Given the description of an element on the screen output the (x, y) to click on. 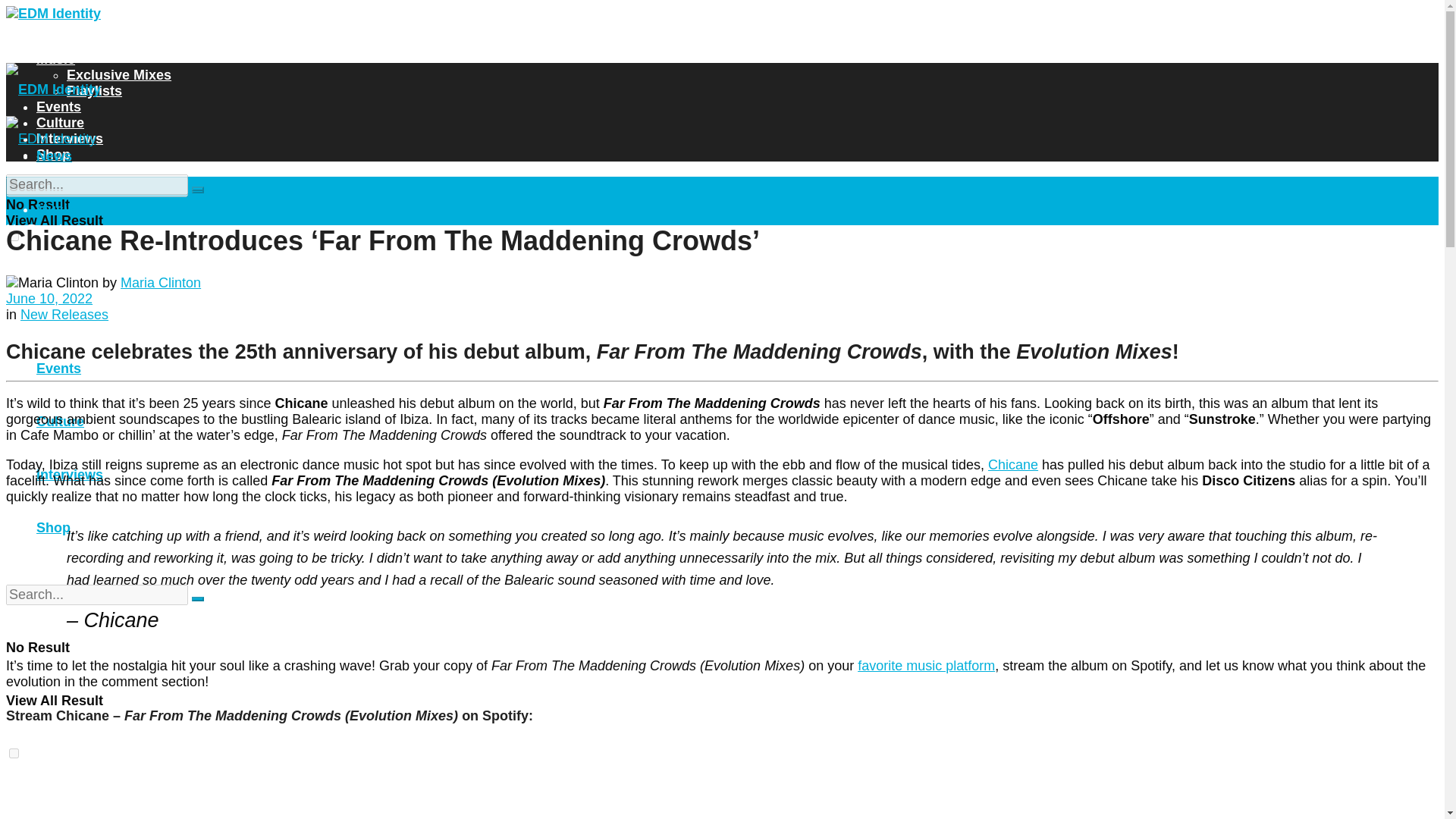
Interviews (69, 138)
Chicane (1013, 464)
New Releases (63, 314)
on (13, 235)
favorite music platform (925, 665)
Shop (52, 527)
Playlists (94, 314)
Music (55, 58)
Maria Clinton (160, 282)
Music (55, 209)
Exclusive Mixes (118, 262)
Shop (52, 154)
on (13, 753)
Interviews (69, 474)
Events (58, 368)
